Given the description of an element on the screen output the (x, y) to click on. 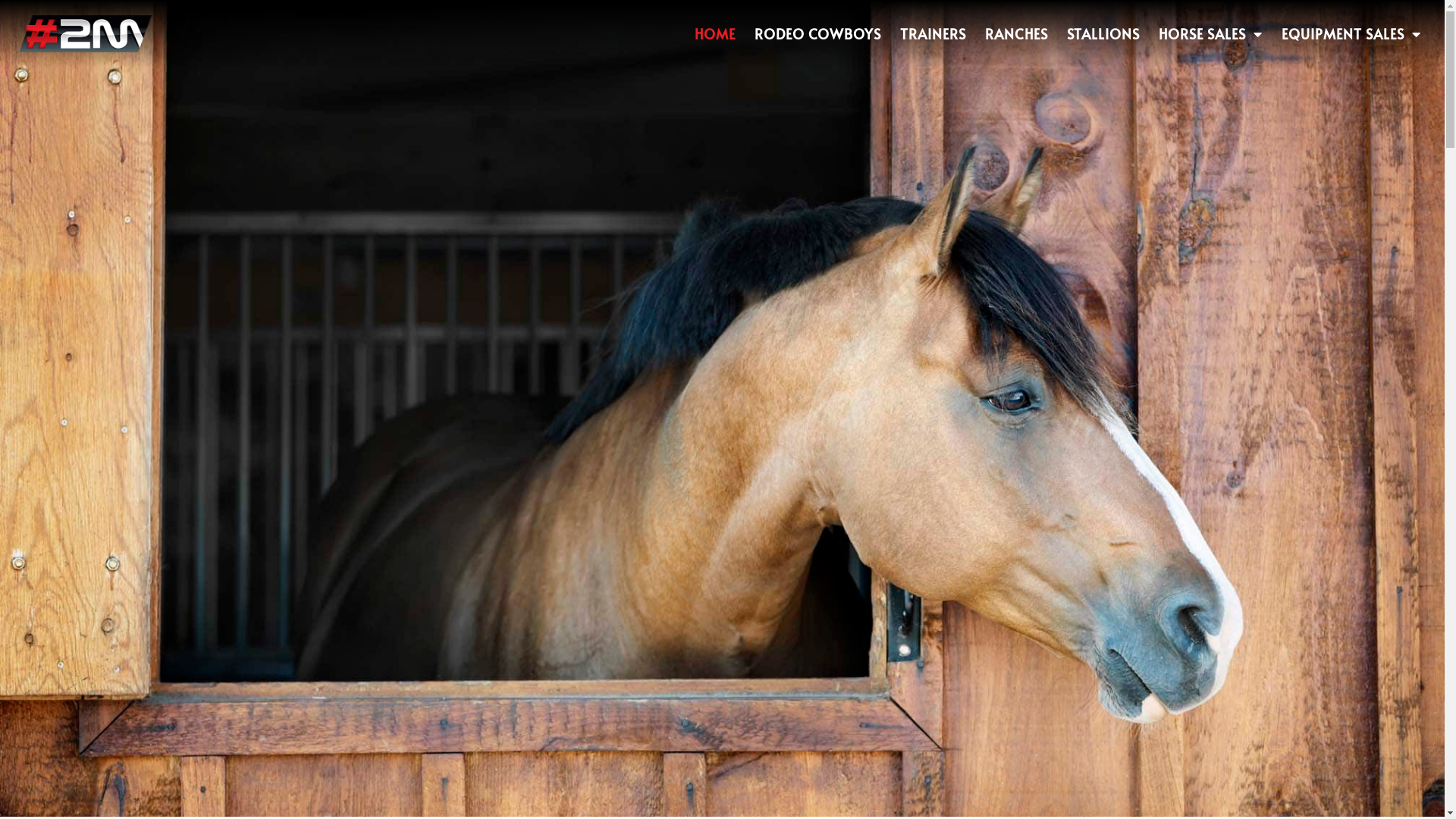
STALLIONS Element type: text (1102, 33)
HORSE SALES Element type: text (1210, 33)
RODEO COWBOYS Element type: text (817, 33)
RANCHES Element type: text (1016, 33)
TRAINERS Element type: text (933, 33)
HOME Element type: text (714, 33)
EQUIPMENT SALES Element type: text (1351, 33)
